Given the description of an element on the screen output the (x, y) to click on. 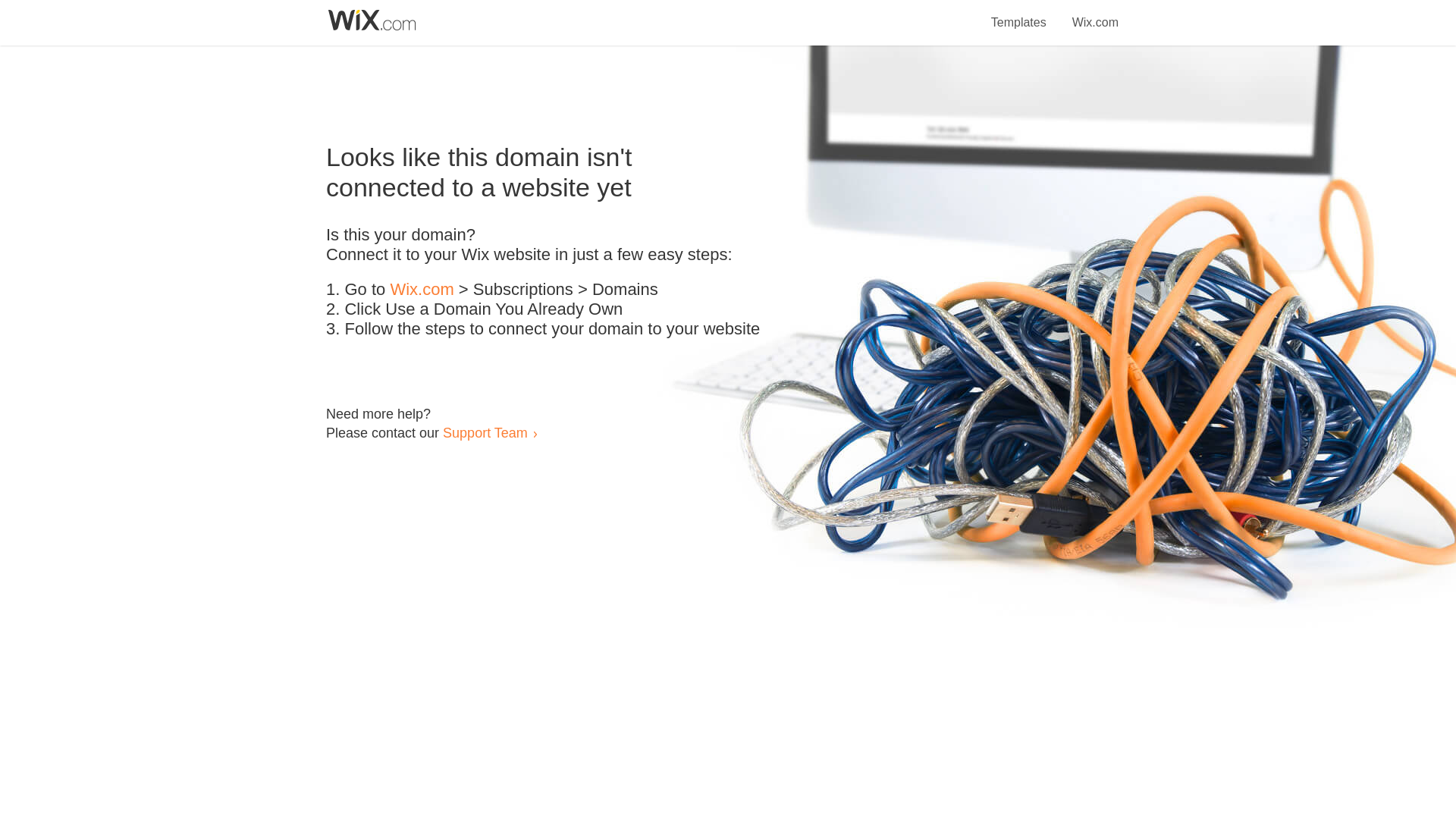
Wix.com (421, 289)
Support Team (484, 432)
Templates (1018, 14)
Wix.com (1095, 14)
